Given the description of an element on the screen output the (x, y) to click on. 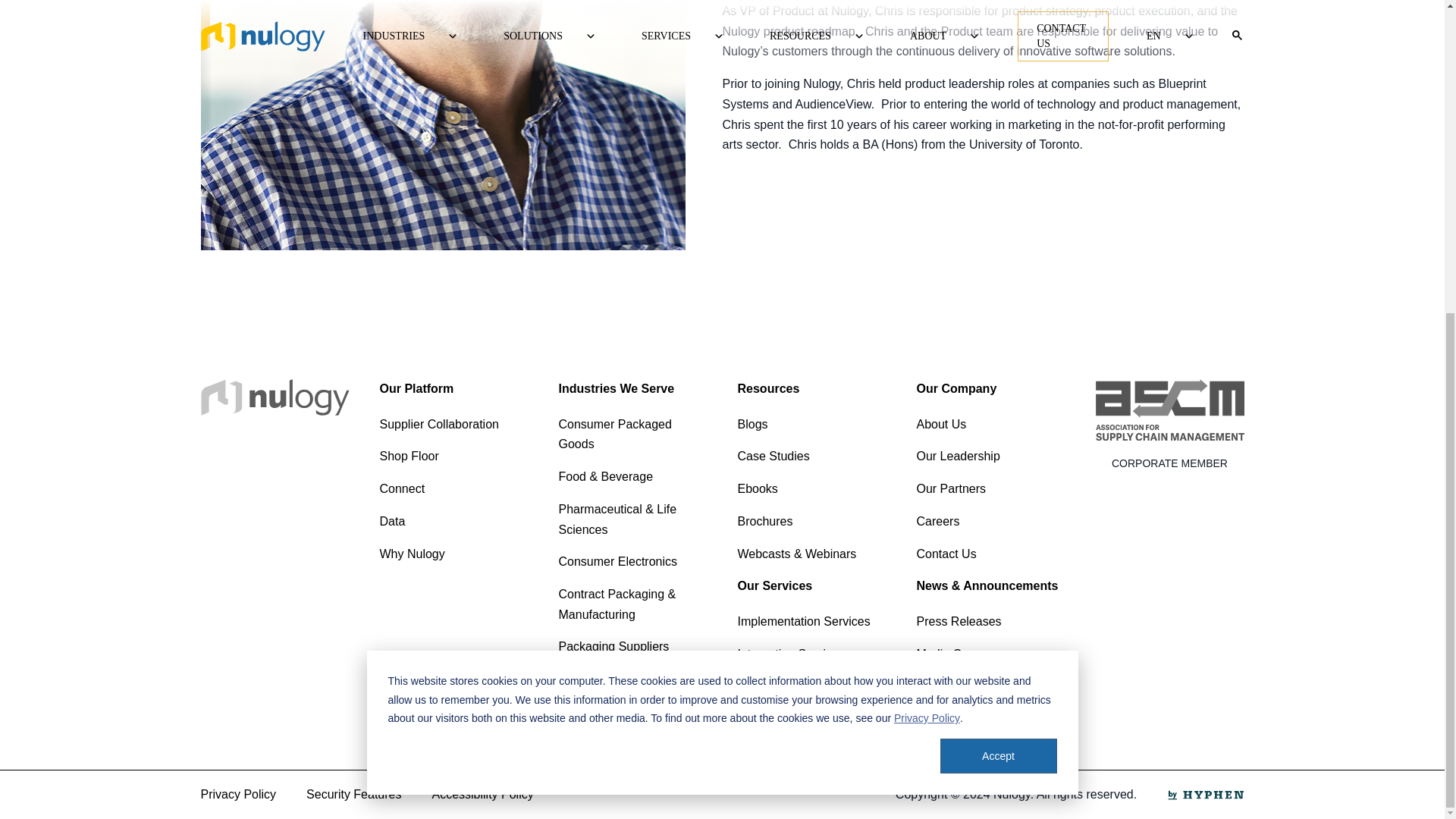
Nulogy Home (274, 397)
Privacy Policy (926, 217)
